Given the description of an element on the screen output the (x, y) to click on. 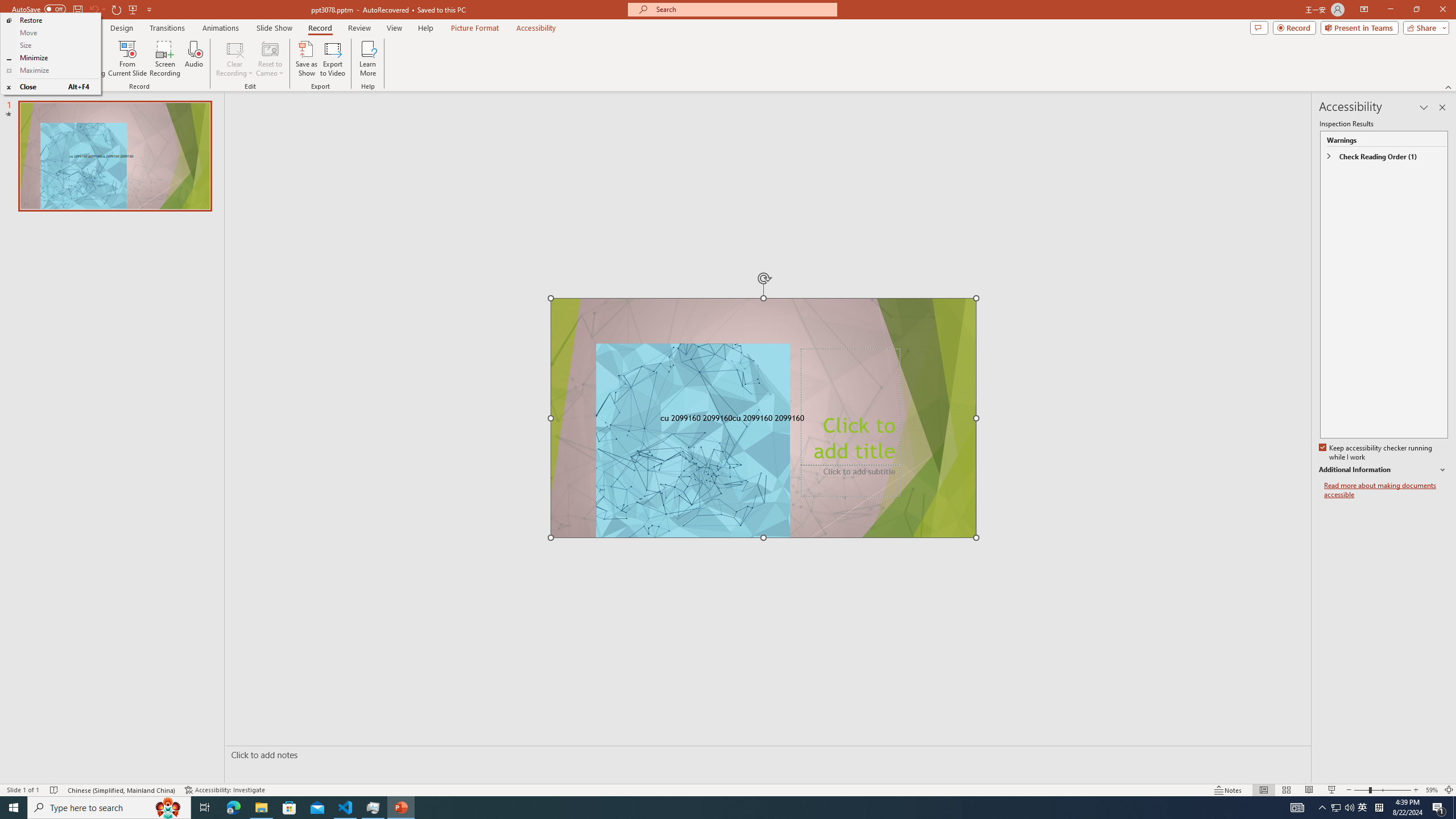
Move (50, 33)
